Given the description of an element on the screen output the (x, y) to click on. 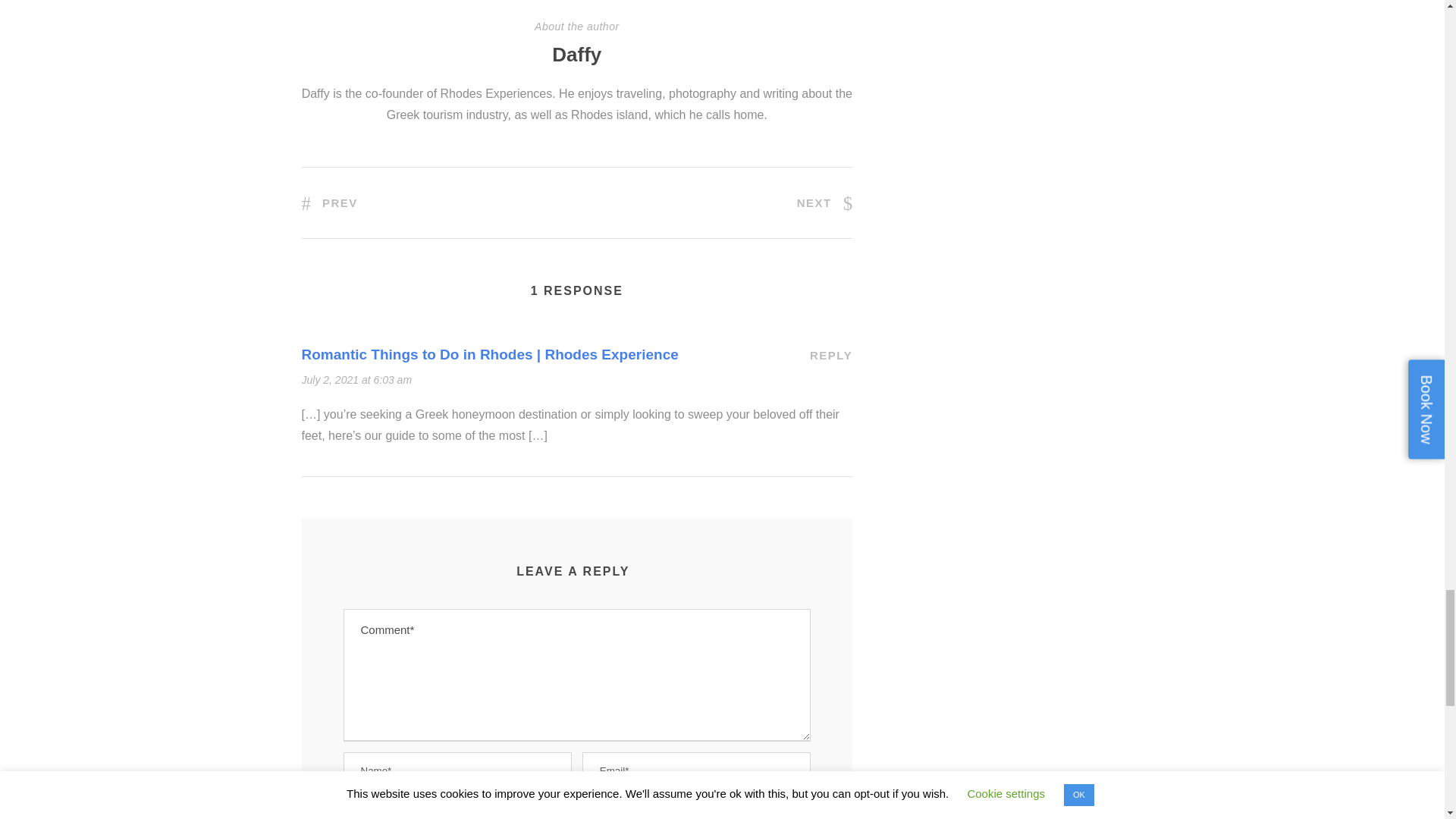
Posts by Daffy (576, 54)
Daffy (576, 54)
